Given the description of an element on the screen output the (x, y) to click on. 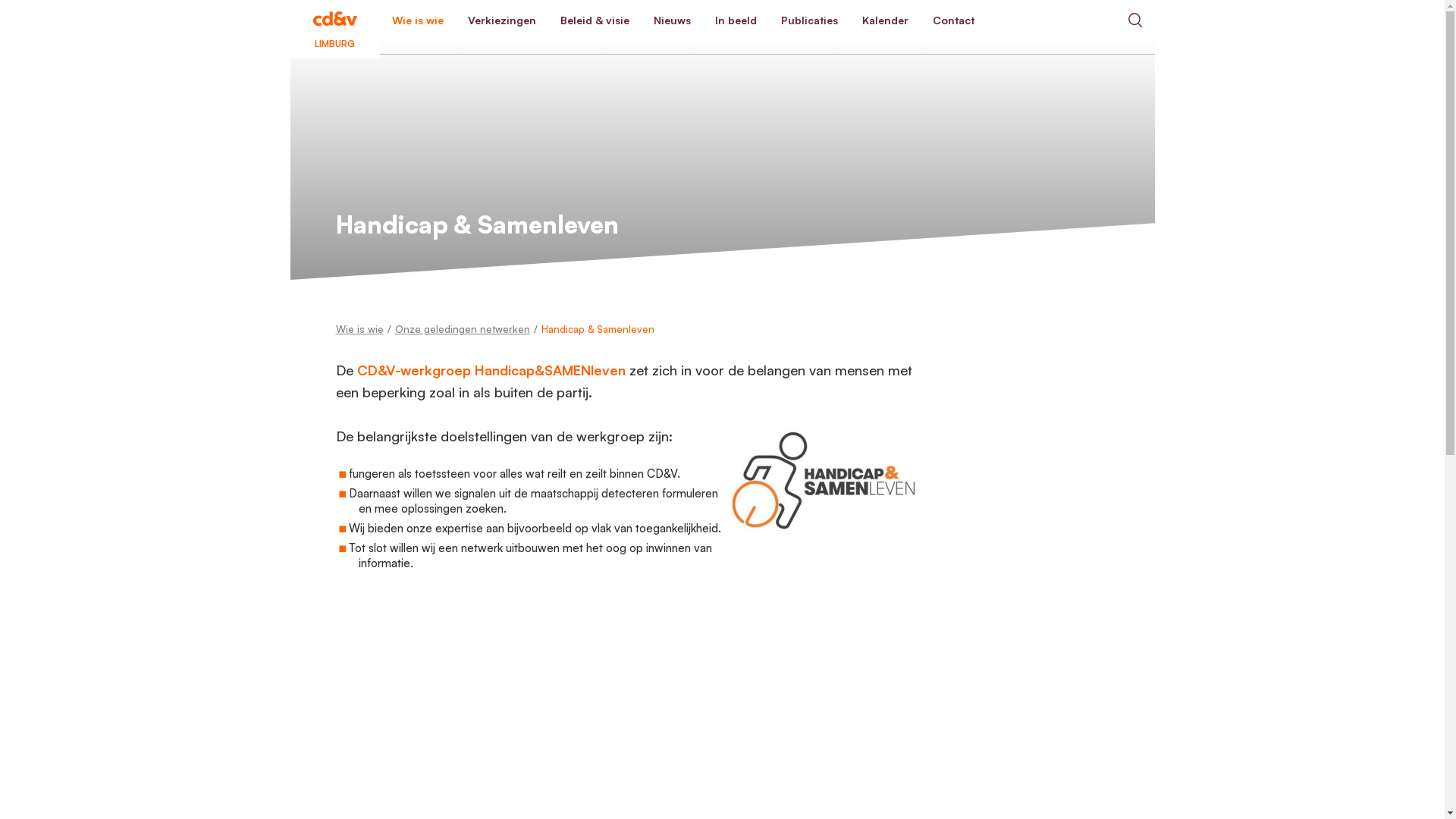
Kalender Element type: text (884, 20)
Contact Element type: text (953, 20)
Nieuws Element type: text (671, 20)
LIMBURG Element type: text (334, 19)
Wie is wie Element type: text (417, 20)
Verkiezingen Element type: text (501, 20)
Wie is wie Element type: text (358, 329)
Beleid & visie Element type: text (593, 20)
Onze geledingen netwerken Element type: text (461, 329)
Publicaties Element type: text (809, 20)
Search Element type: hover (1134, 19)
In beeld Element type: text (735, 20)
